Given the description of an element on the screen output the (x, y) to click on. 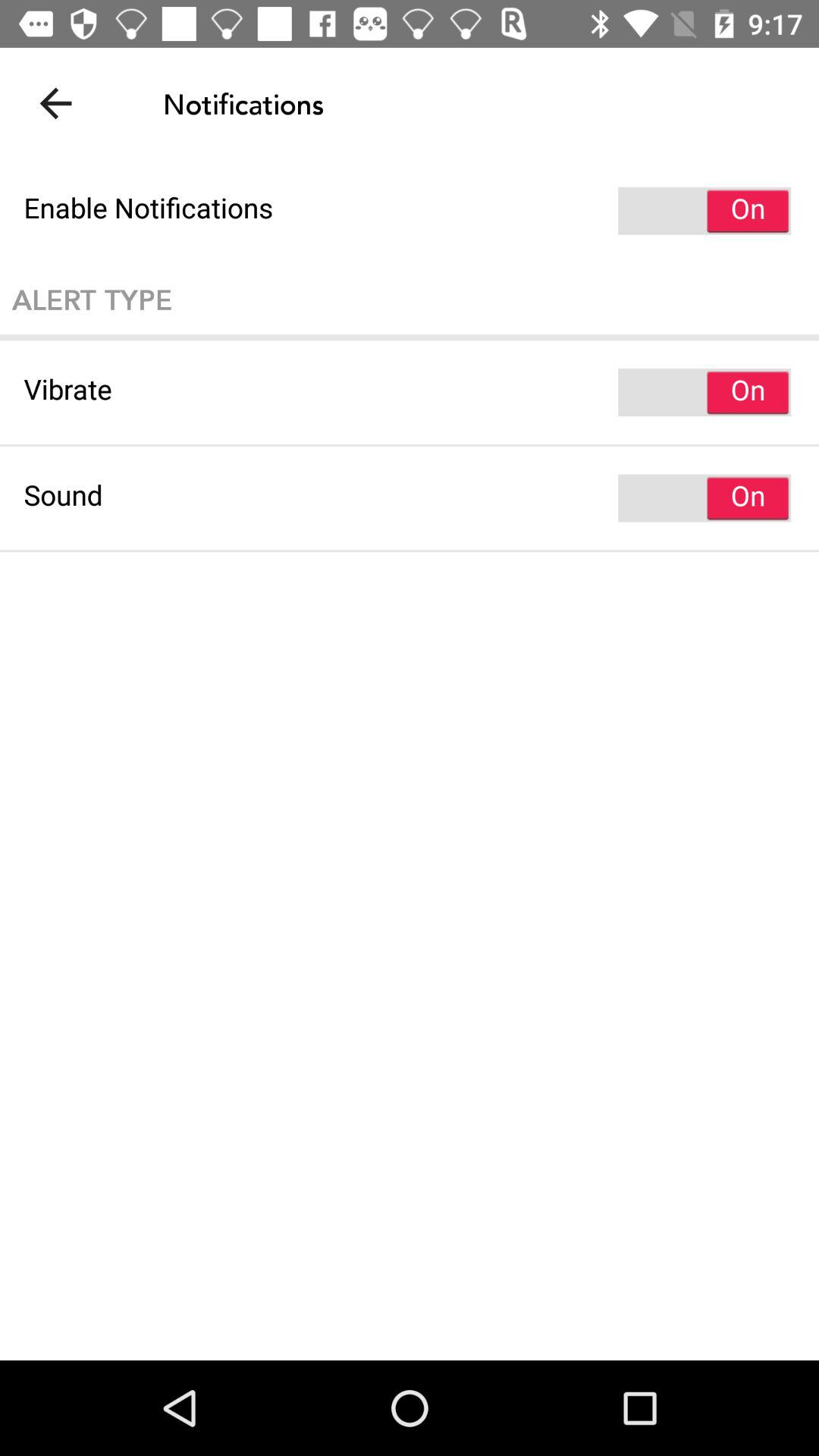
swipe to the enable notifications item (409, 210)
